Given the description of an element on the screen output the (x, y) to click on. 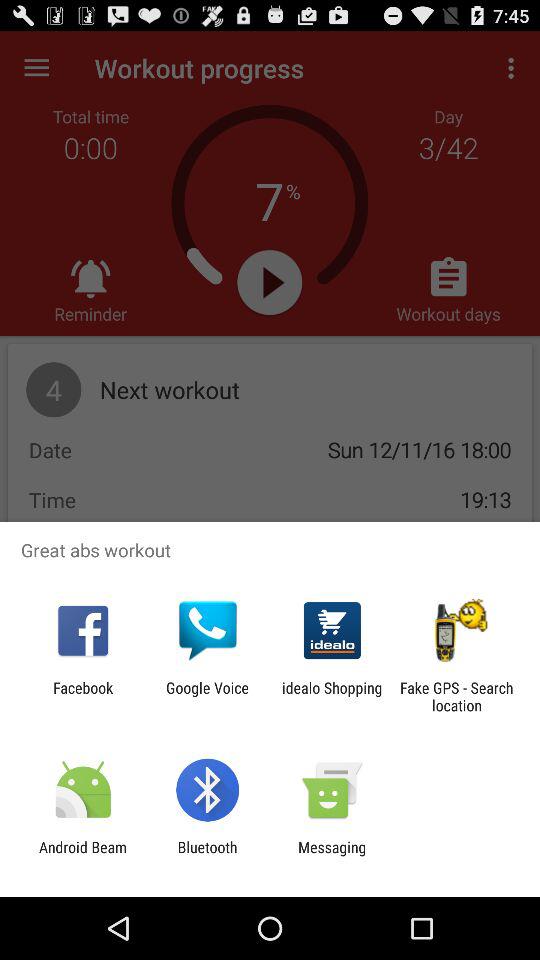
select the app to the left of google voice icon (83, 696)
